Given the description of an element on the screen output the (x, y) to click on. 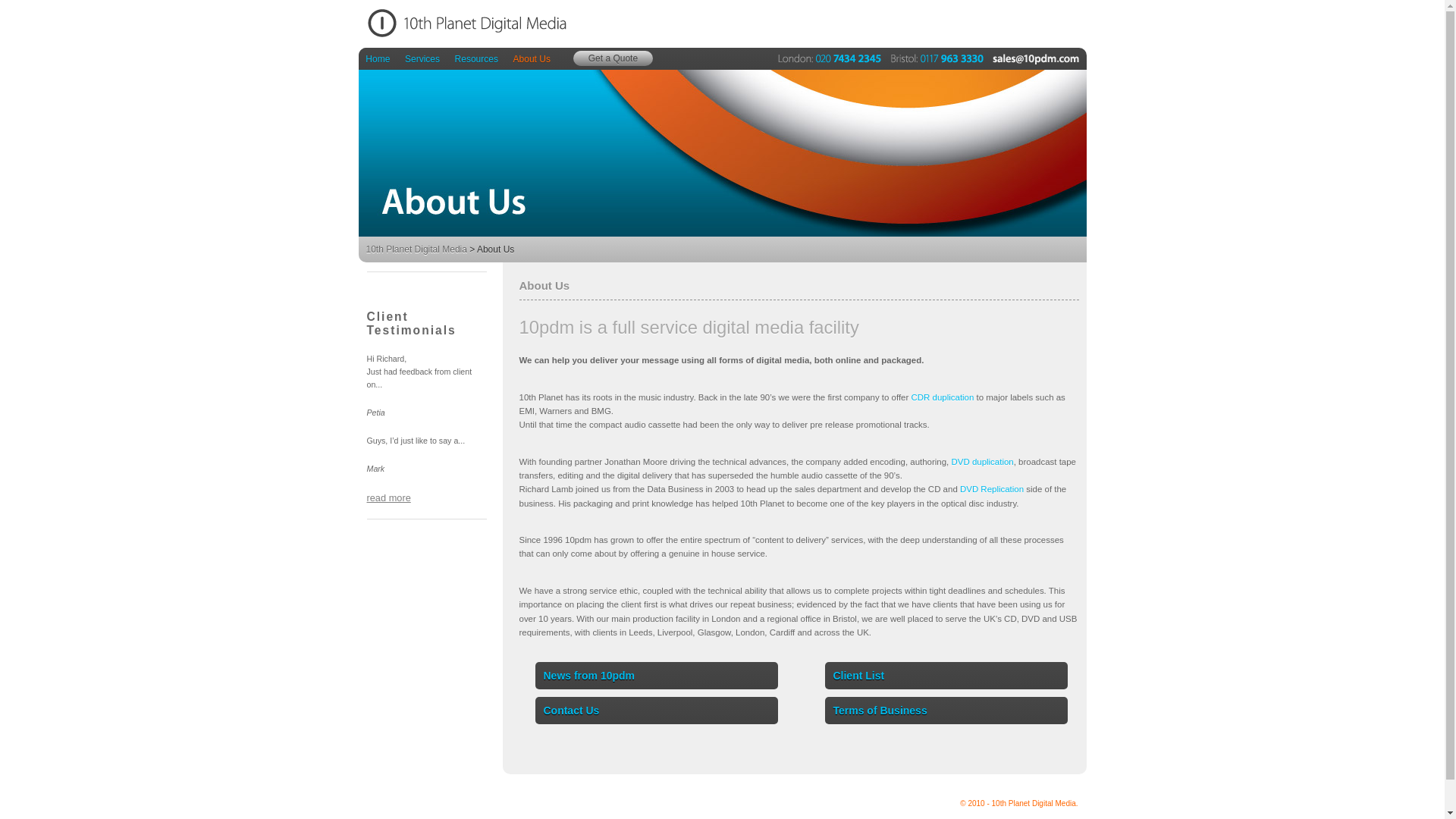
Contact Us Element type: text (656, 710)
Client List Element type: text (946, 675)
Terms of Business Element type: text (946, 710)
read more Element type: text (389, 497)
Home Element type: text (377, 58)
Resources Element type: text (476, 58)
10th Planet Digital Media Element type: text (415, 249)
Get a Quote Element type: text (612, 57)
CDR duplication Element type: text (942, 396)
DVD Replication Element type: text (991, 488)
About Us Element type: hover (721, 152)
Services Element type: text (422, 58)
About Us Element type: text (531, 58)
DVD duplication Element type: text (981, 461)
News from 10pdm Element type: text (656, 675)
